Given the description of an element on the screen output the (x, y) to click on. 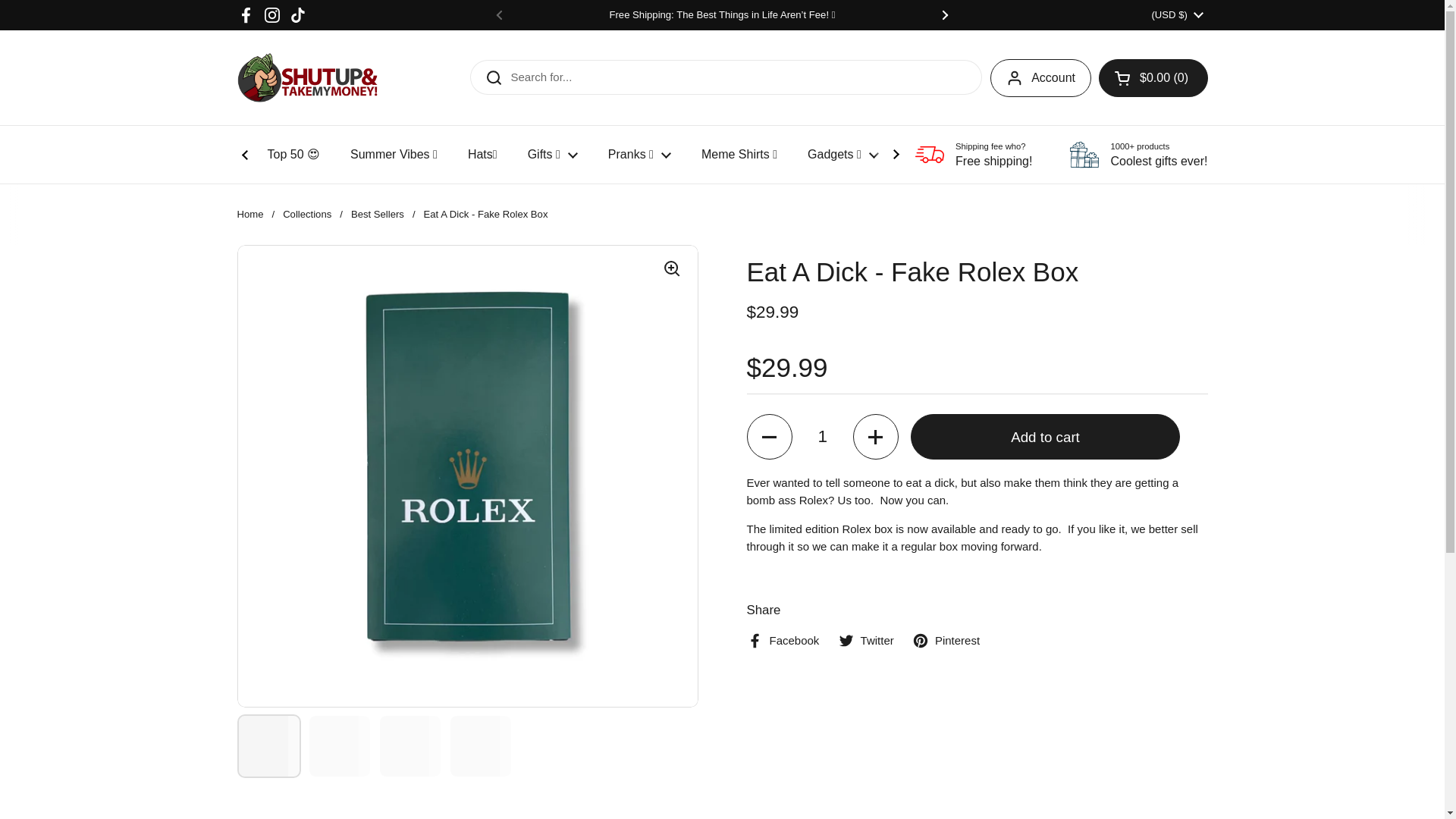
Facebook (244, 14)
Shut Up and Take my MONEY (306, 77)
Share on twitter (865, 641)
TikTok (296, 14)
Open cart (1153, 77)
Account (1040, 77)
Instagram (271, 14)
1 (822, 436)
Share on facebook (781, 641)
